Given the description of an element on the screen output the (x, y) to click on. 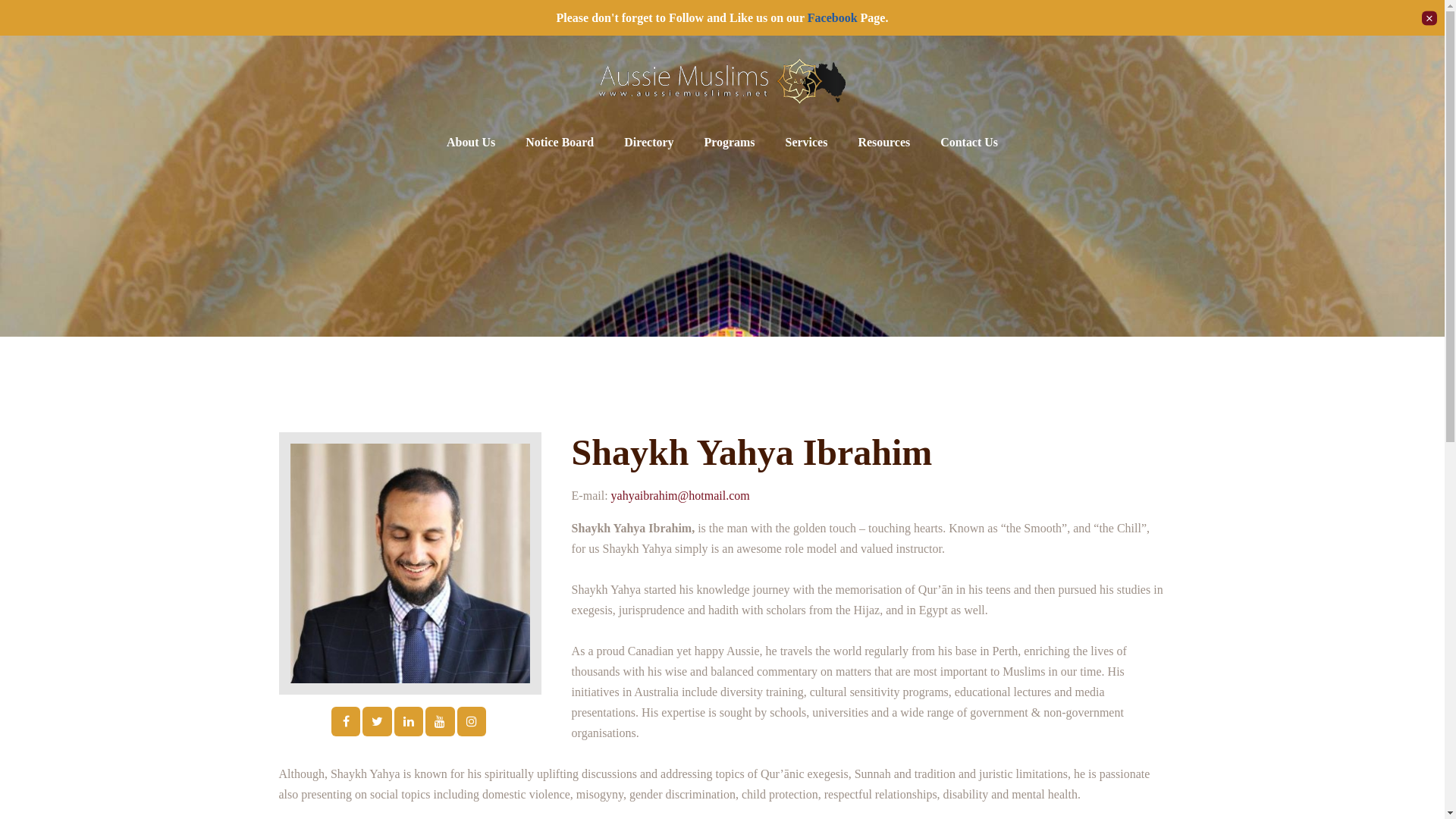
Resources (883, 142)
Services (806, 142)
Directory (648, 142)
Facebook (832, 17)
About Us (470, 142)
Programs (729, 142)
Notice Board (559, 142)
Contact Us (968, 142)
